Given the description of an element on the screen output the (x, y) to click on. 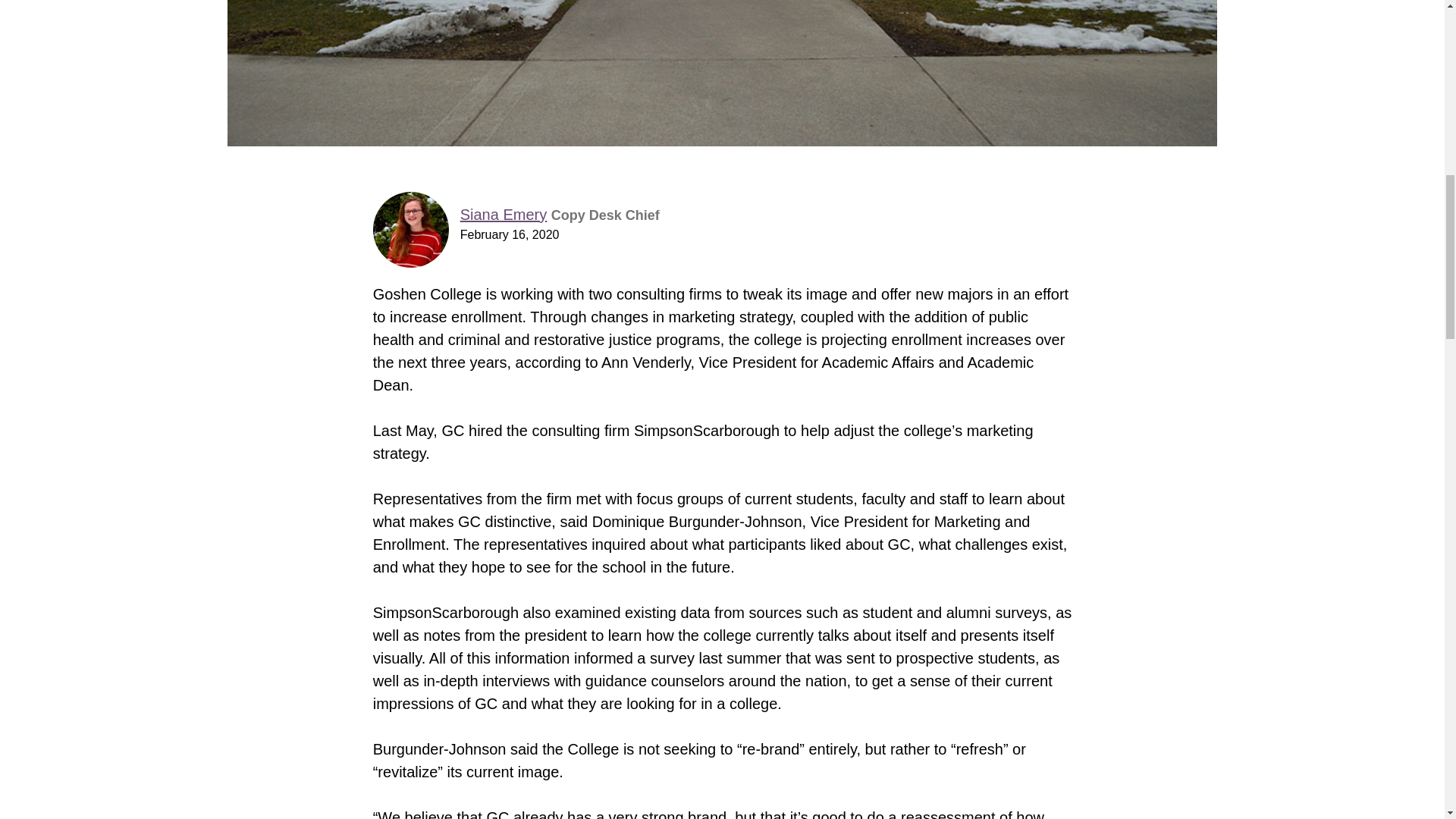
Siana Emery (503, 214)
